Given the description of an element on the screen output the (x, y) to click on. 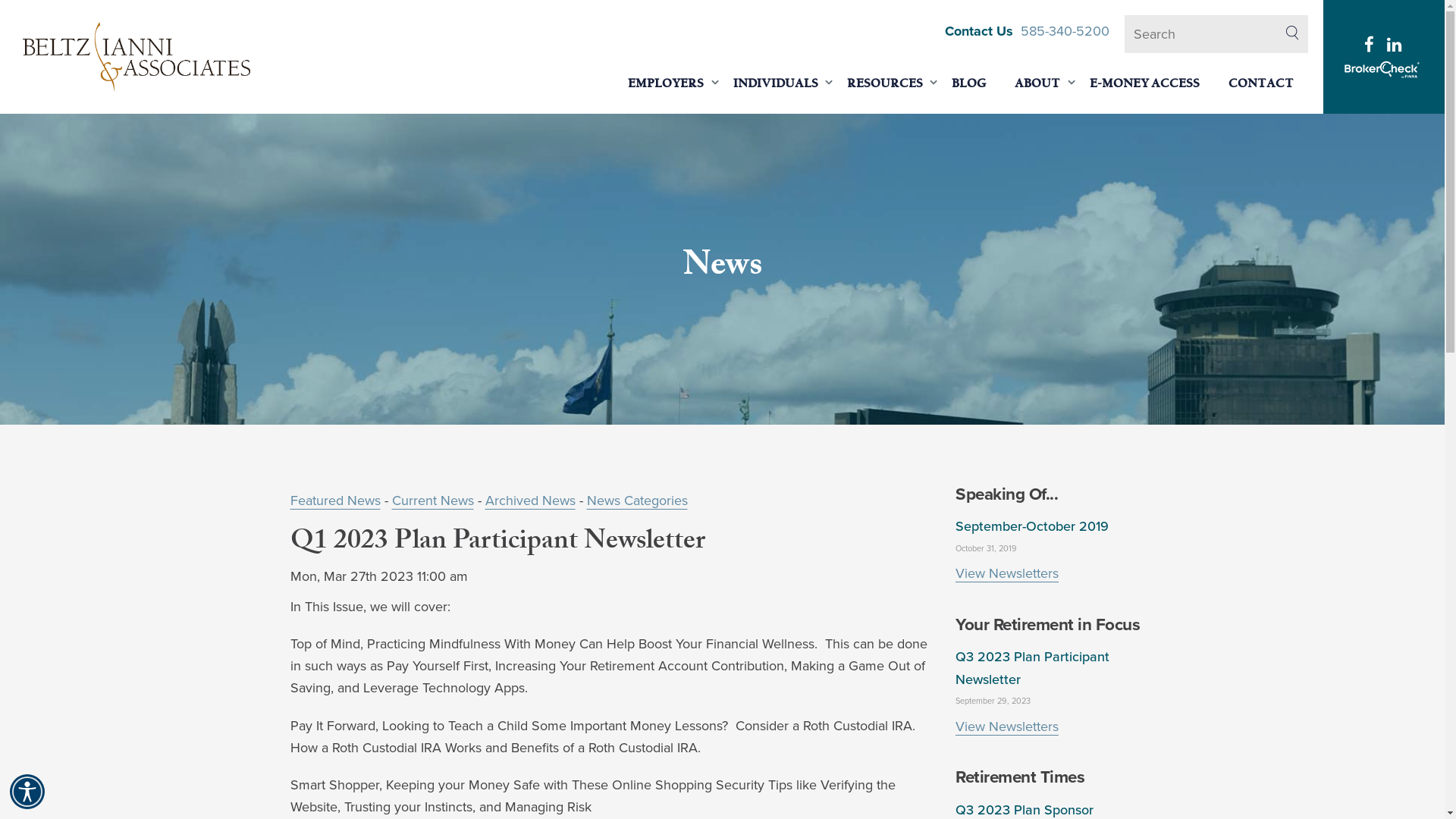
View Newsletters Element type: text (1006, 726)
  Element type: text (1371, 44)
Q3 2023 Plan Participant Newsletter Element type: text (1032, 667)
585-340-5200 Element type: text (1064, 30)
BLOG Element type: text (968, 83)
EMPLOYERS Element type: text (665, 83)
INDIVIDUALS Element type: text (775, 83)
News Categories Element type: text (636, 499)
View Newsletters Element type: text (1006, 572)
Current News Element type: text (432, 499)
  Element type: text (1397, 44)
September-October 2019 Element type: text (1031, 525)
CONTACT Element type: text (1261, 83)
Featured News Element type: text (334, 499)
ABOUT Element type: text (1037, 83)
RESOURCES Element type: text (884, 83)
E-MONEY ACCESS Element type: text (1144, 83)
Archived News Element type: text (530, 499)
